Given the description of an element on the screen output the (x, y) to click on. 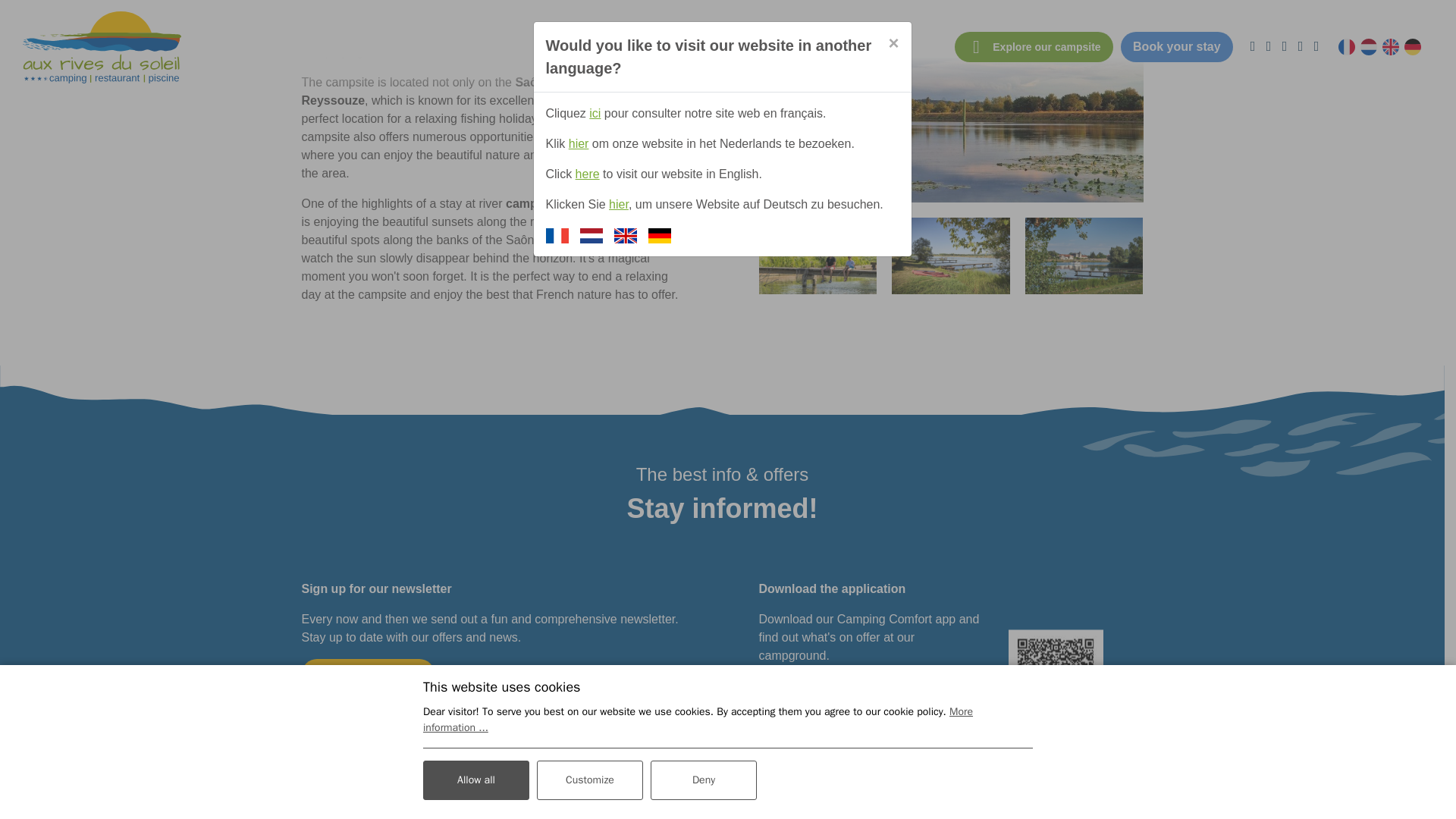
Aux rives du soleil camping rivier (950, 101)
apple (915, 692)
qr (1056, 676)
android (810, 692)
